Given the description of an element on the screen output the (x, y) to click on. 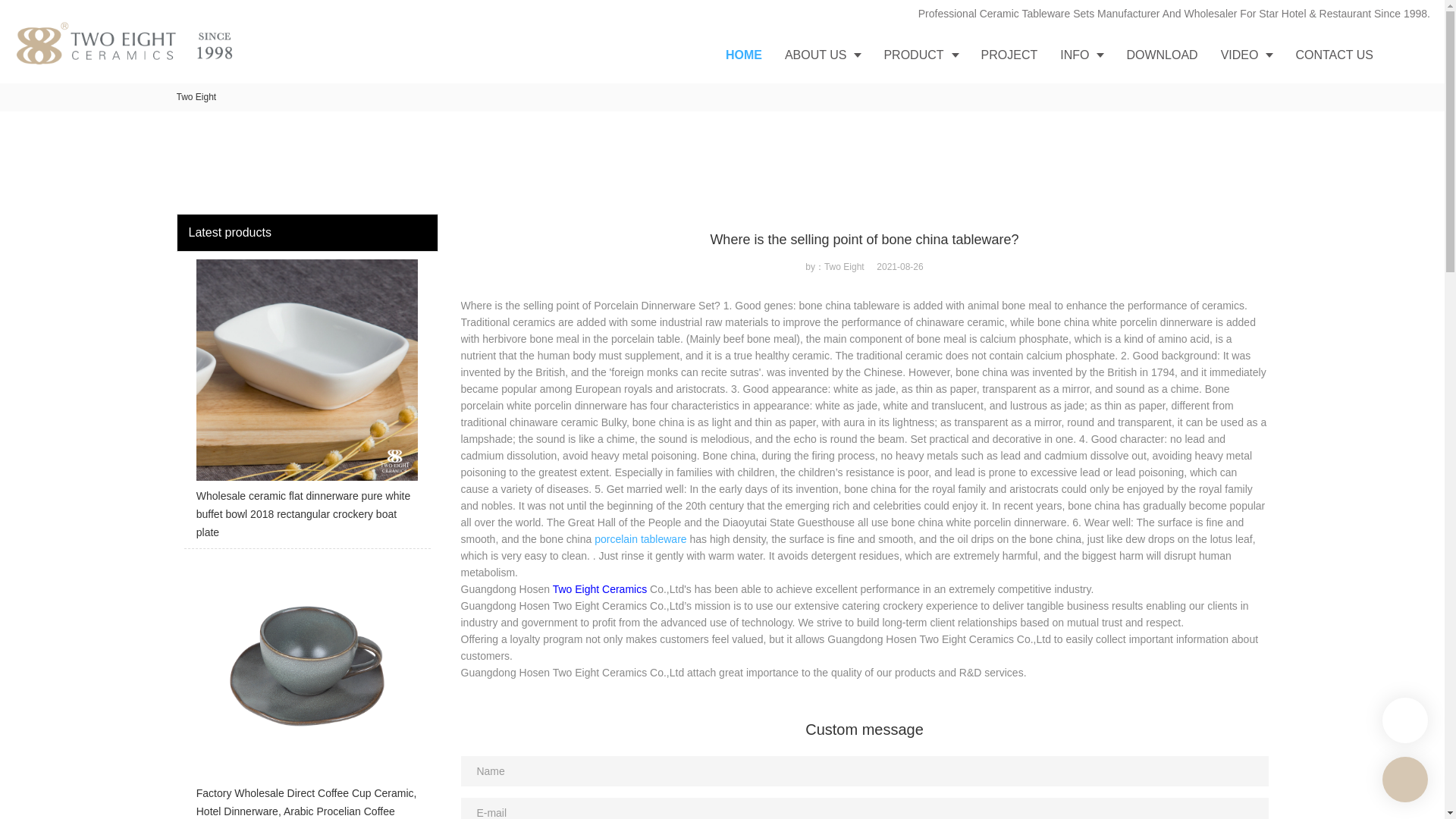
VIDEO (1246, 55)
ABOUT US (822, 55)
PROJECT (1009, 55)
PRODUCT (920, 55)
HOME (743, 55)
CONTACT US (1334, 55)
INFO (1081, 55)
Two Eight (195, 96)
DOWNLOAD (1161, 55)
porcelain tableware (639, 539)
Two Eight Ceramics (599, 589)
